Given the description of an element on the screen output the (x, y) to click on. 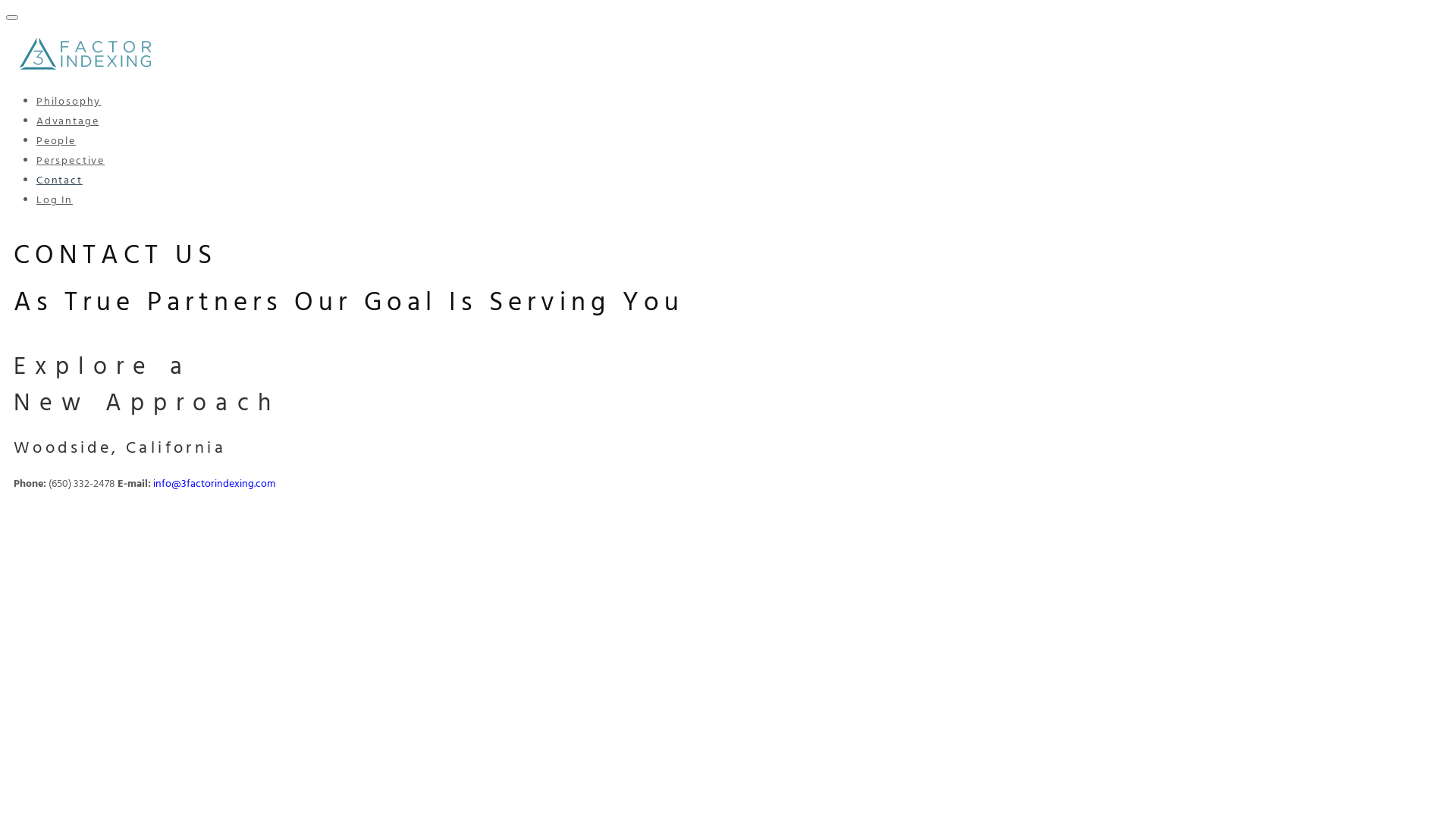
Advantage Element type: text (67, 121)
Perspective Element type: text (70, 160)
Log In Element type: text (54, 200)
info@3factorindexing.com Element type: text (214, 483)
People Element type: text (55, 141)
Contact Element type: text (59, 180)
Philosophy Element type: text (68, 101)
